Given the description of an element on the screen output the (x, y) to click on. 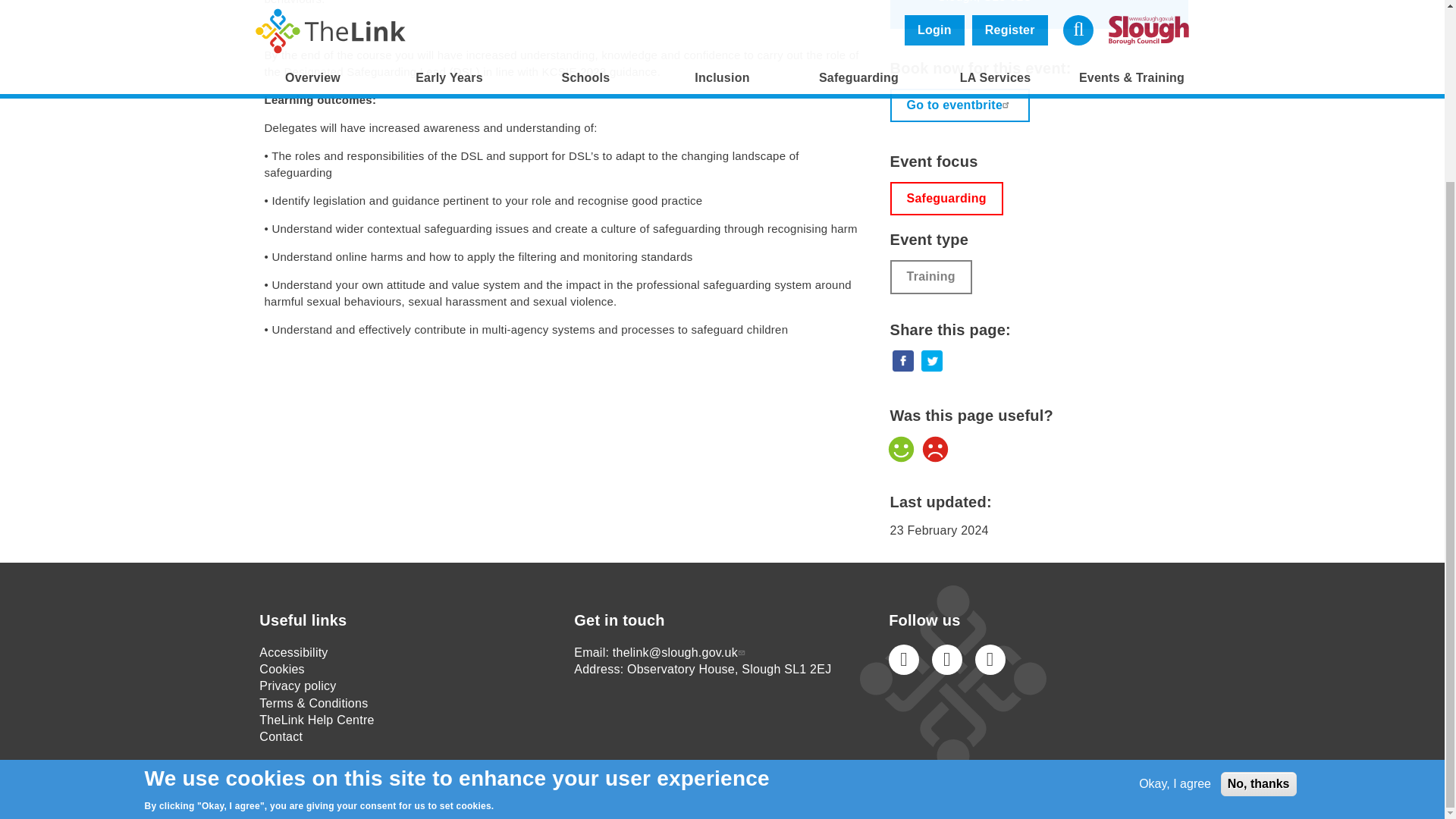
Twitter (946, 659)
